Given the description of an element on the screen output the (x, y) to click on. 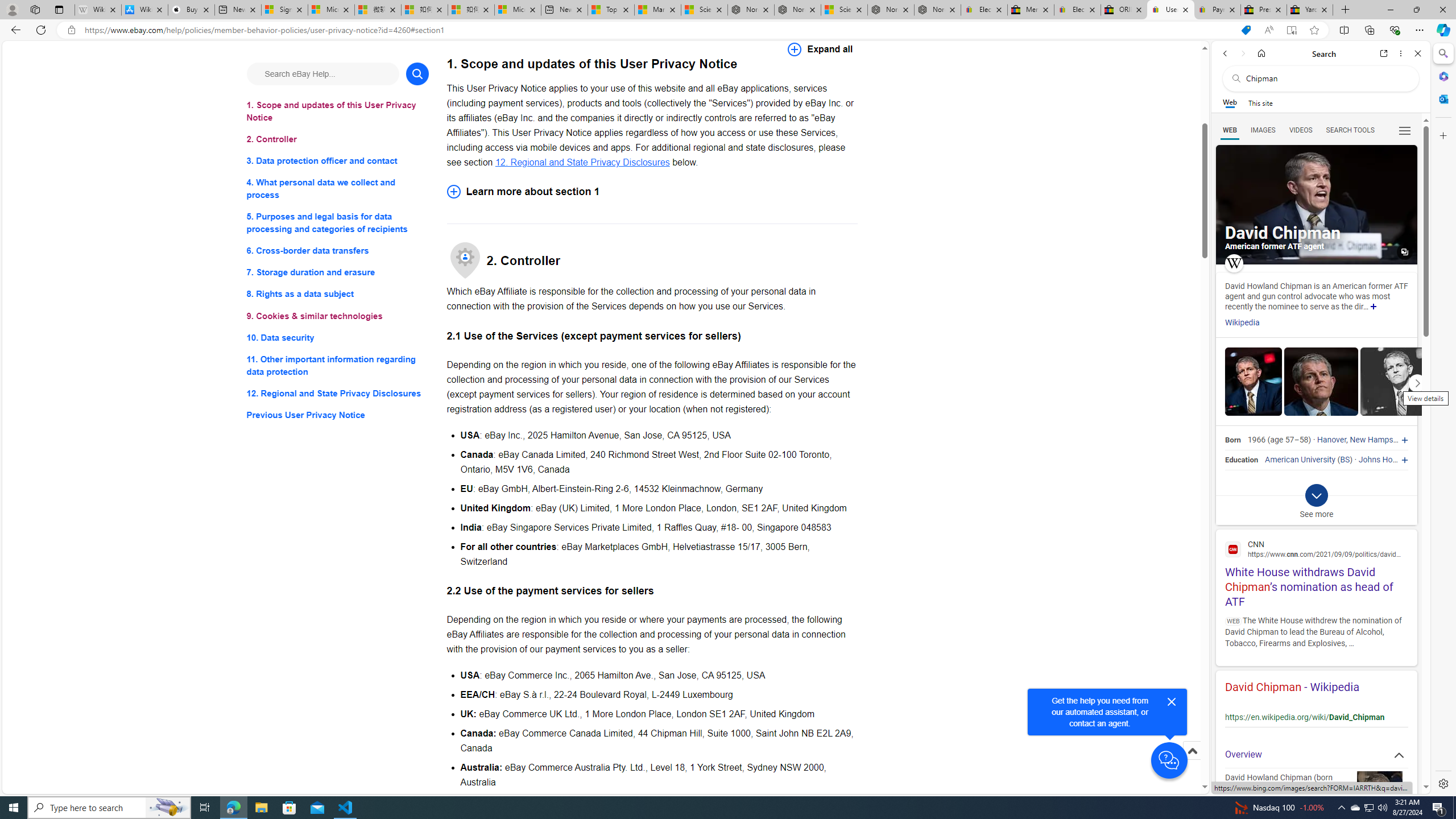
10. Data security (337, 336)
12. Regional and State Privacy Disclosures (582, 162)
8. Rights as a data subject (337, 293)
View details (1396, 382)
9. Cookies & similar technologies (337, 315)
American University (1300, 460)
